Given the description of an element on the screen output the (x, y) to click on. 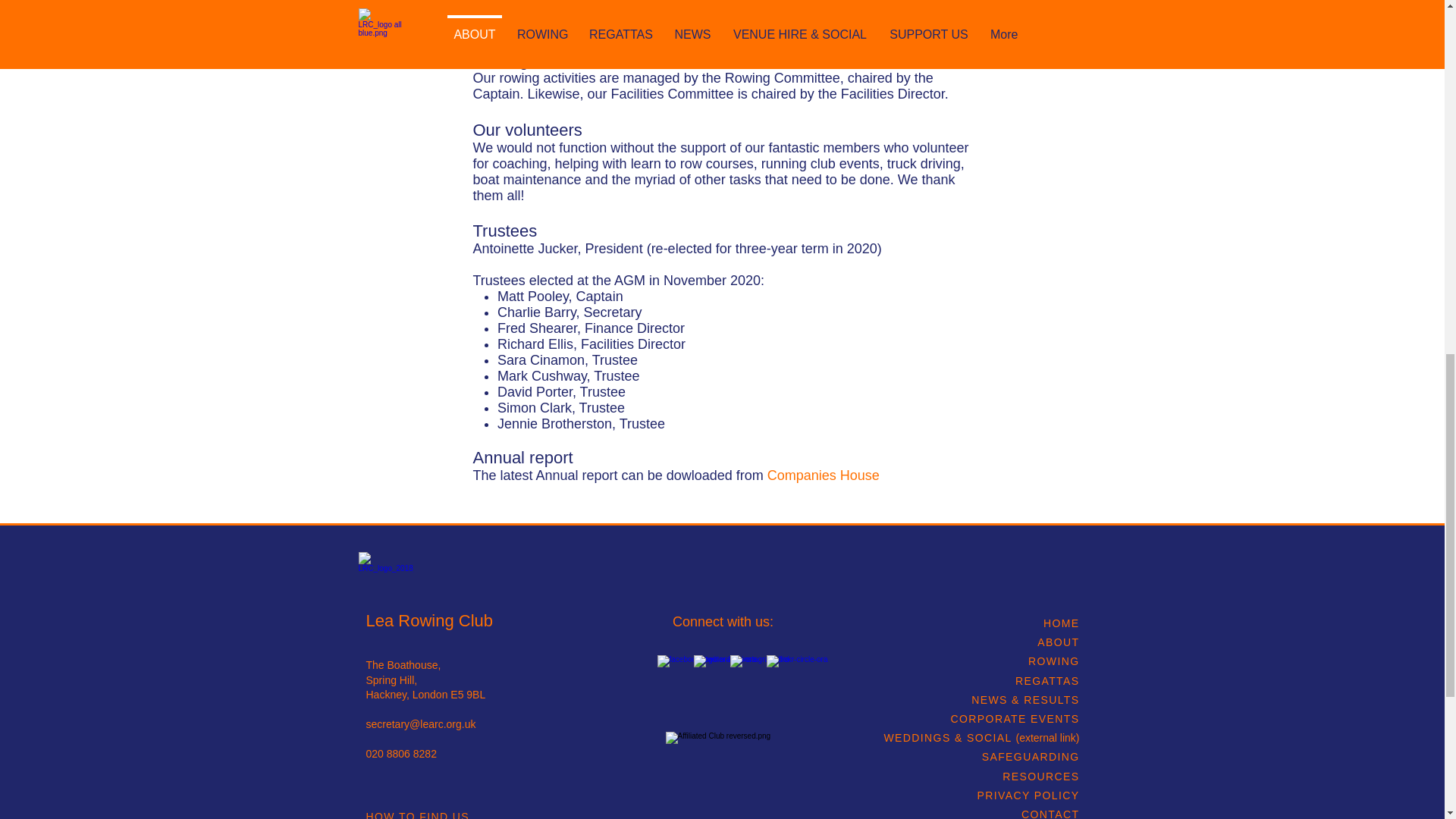
Companies House (823, 475)
020 8806 8282 (400, 753)
HOW TO FIND US (416, 814)
